Given the description of an element on the screen output the (x, y) to click on. 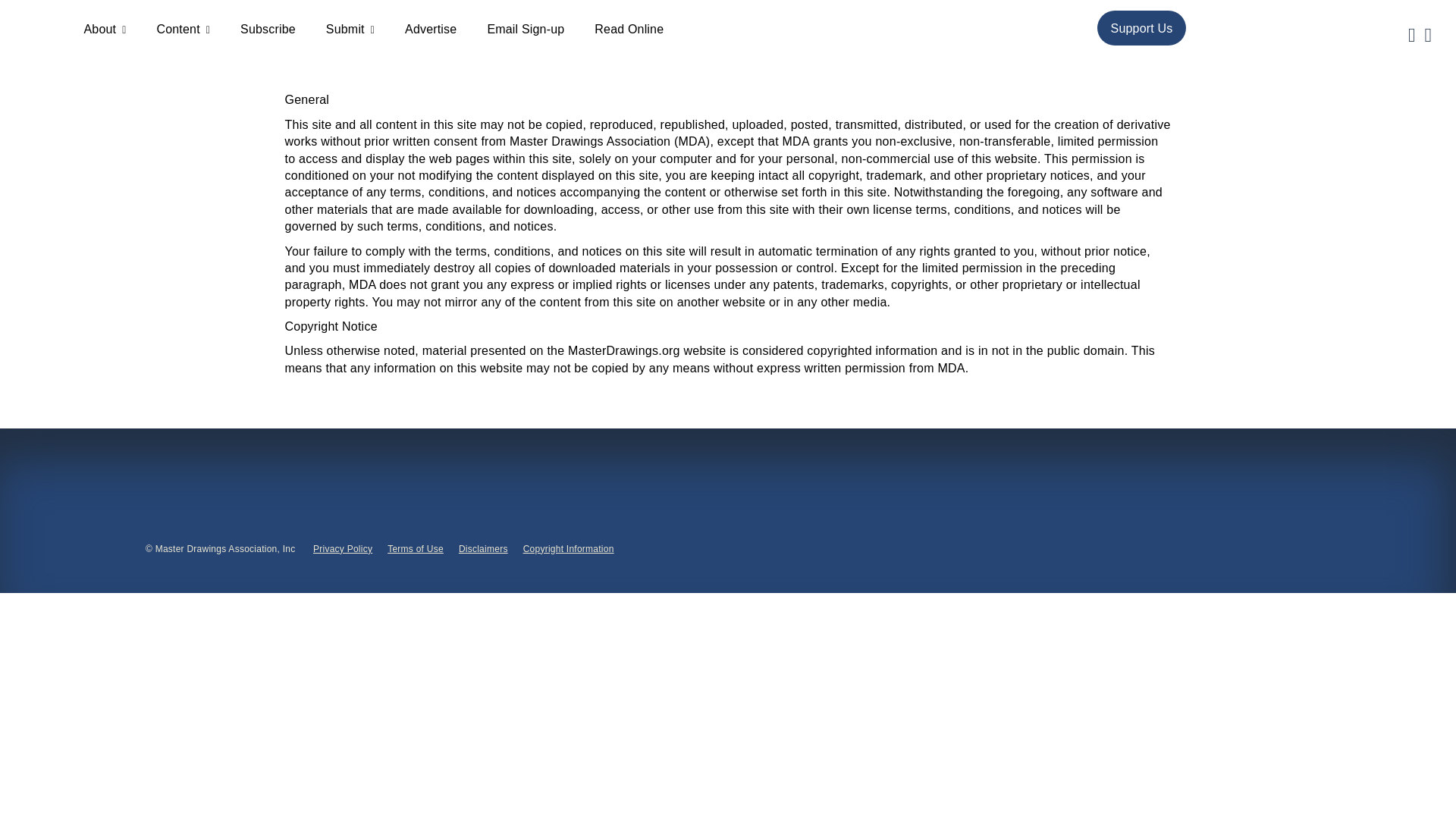
About (103, 28)
Advertise (430, 28)
Support Us (1141, 27)
Read Online (628, 28)
Submit (350, 28)
Subscribe (267, 28)
Email Sign-up (525, 28)
Content (182, 28)
